Given the description of an element on the screen output the (x, y) to click on. 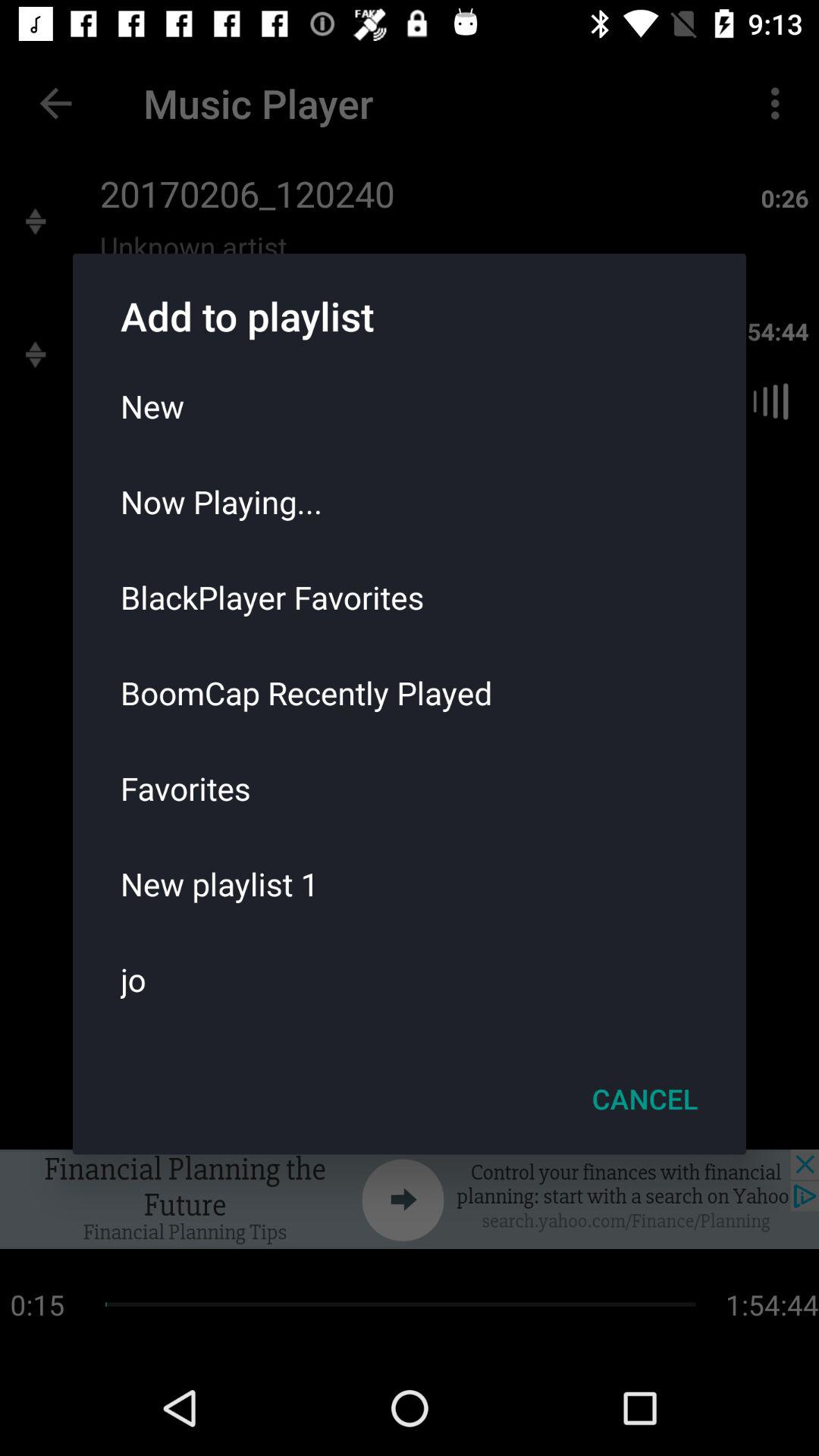
turn off the item below the jo (645, 1098)
